Given the description of an element on the screen output the (x, y) to click on. 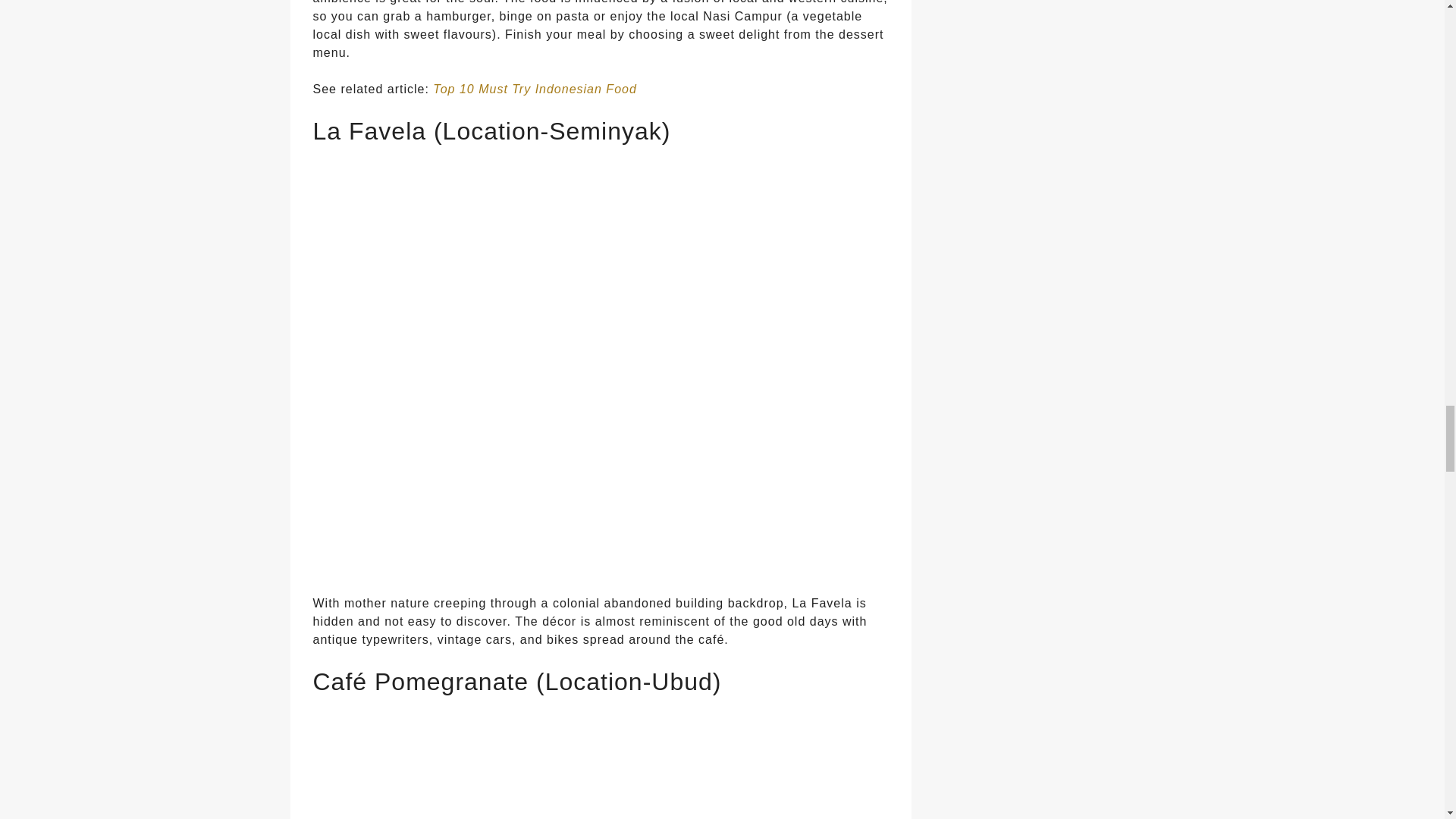
Top 10 Must Try Indonesian Food (534, 88)
